Given the description of an element on the screen output the (x, y) to click on. 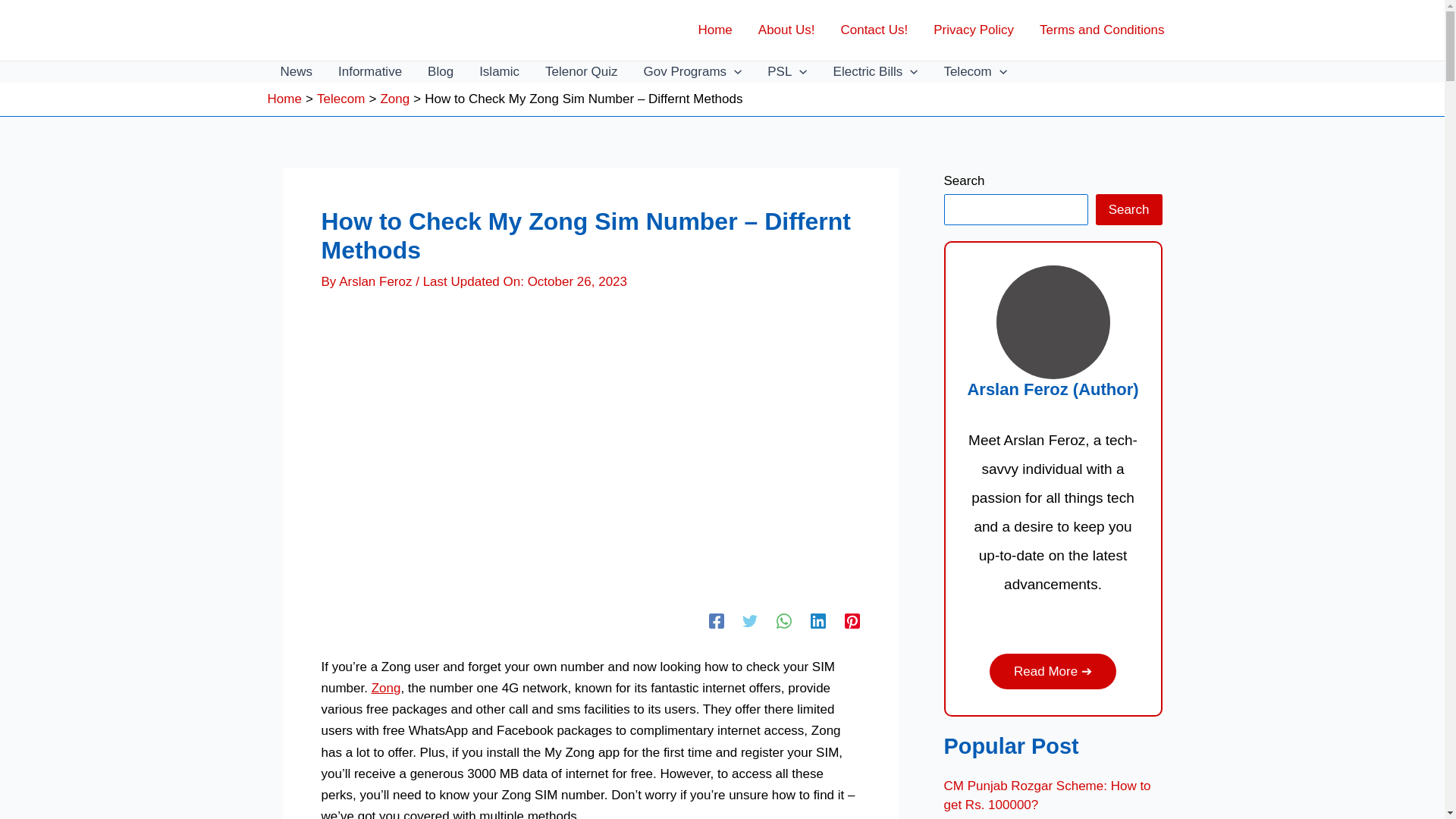
Terms and Conditions (1101, 30)
Islamic (498, 71)
Home (714, 30)
Gov Programs (692, 71)
View all posts by Arslan Feroz (376, 281)
News (295, 71)
Informative (369, 71)
Telenor Quiz (581, 71)
Telecom (975, 71)
Electric Bills (876, 71)
